Given the description of an element on the screen output the (x, y) to click on. 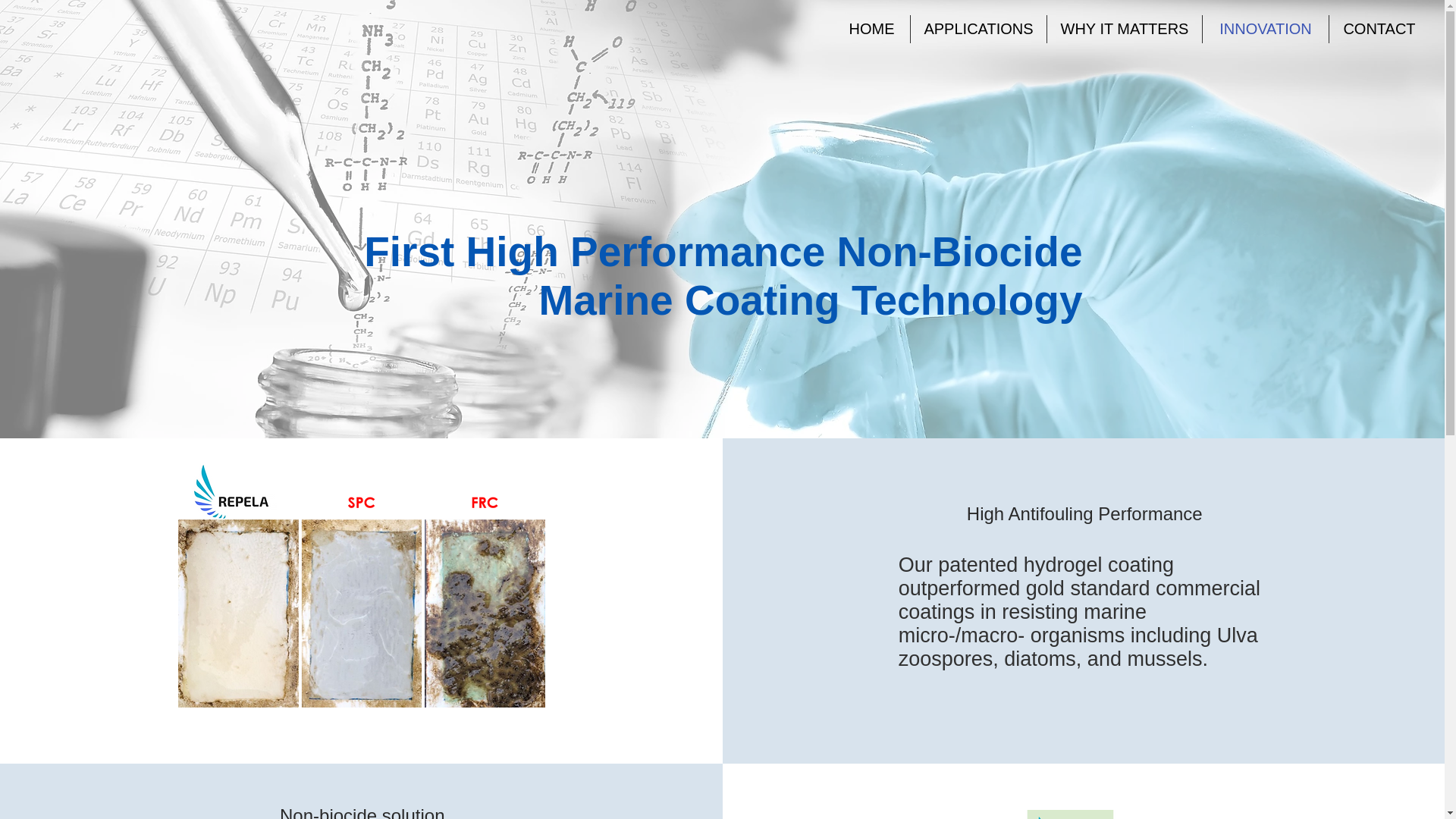
WHY IT MATTERS (1124, 29)
INNOVATION (1264, 29)
CONTACT (1379, 29)
APPLICATIONS (978, 29)
HOME (871, 29)
